Given the description of an element on the screen output the (x, y) to click on. 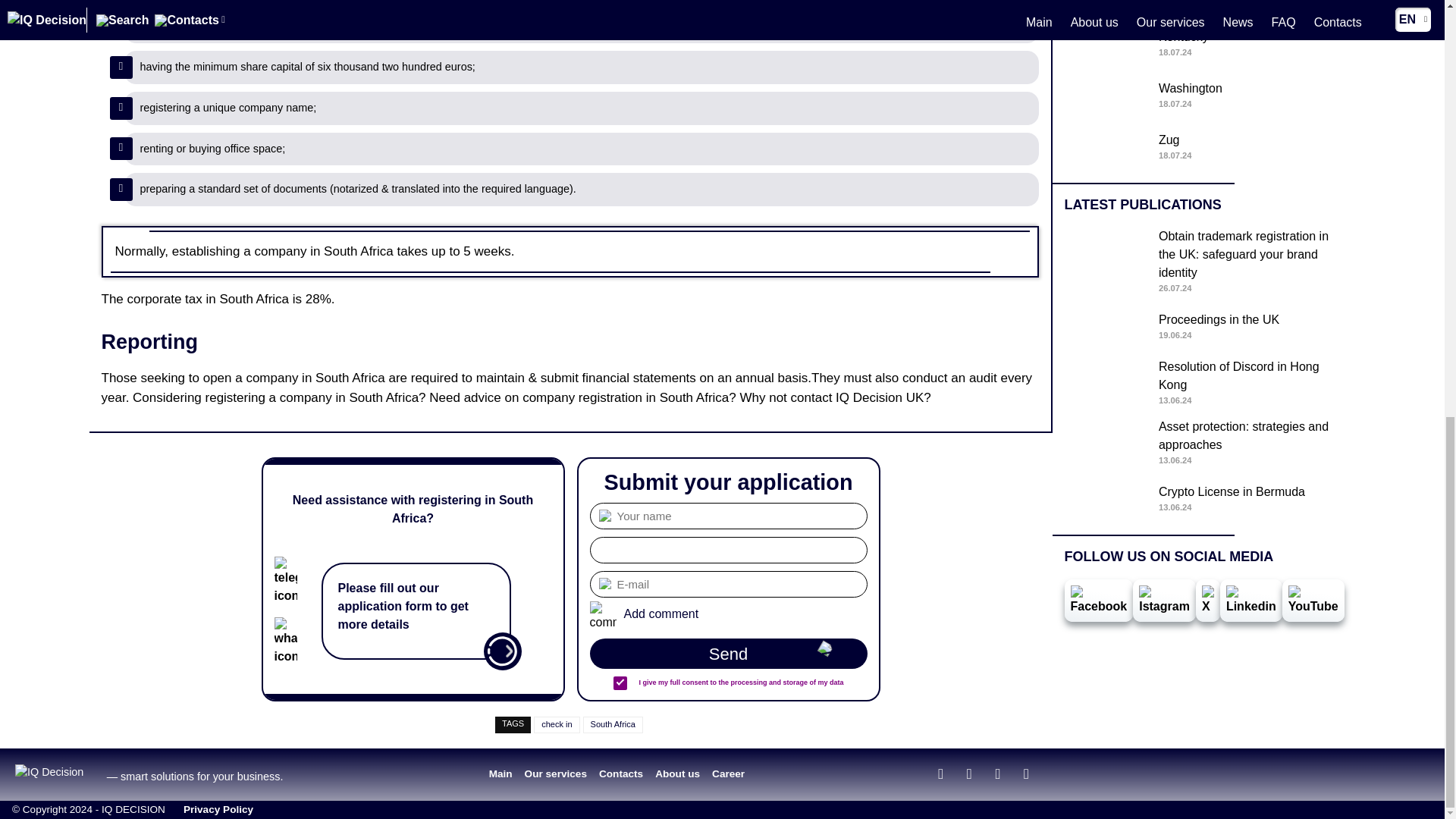
check in (556, 723)
Send (1203, 45)
South Africa (728, 653)
